Given the description of an element on the screen output the (x, y) to click on. 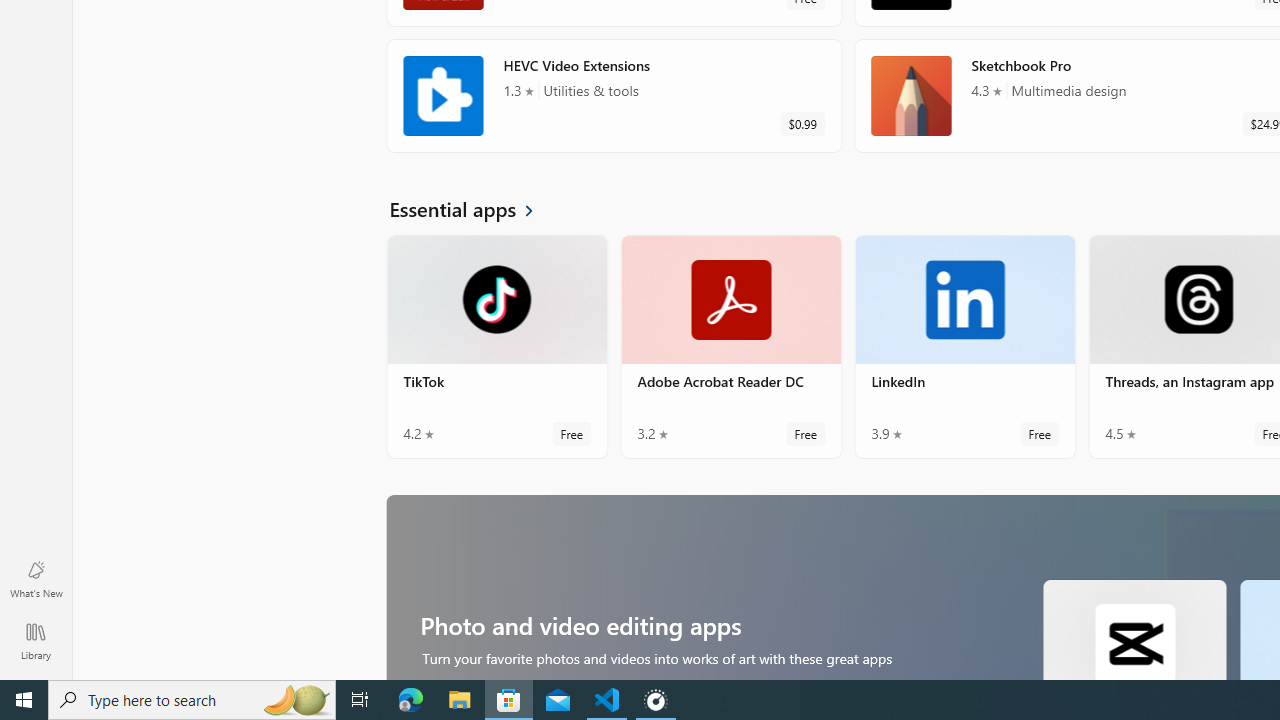
What's New (35, 578)
See all  Essential apps (473, 208)
CapCut. Average rating of 4.7 out of five stars. Free   (1134, 628)
LinkedIn. Average rating of 3.9 out of five stars. Free   (964, 346)
TikTok. Average rating of 4.2 out of five stars. Free   (497, 346)
Library (35, 640)
